Given the description of an element on the screen output the (x, y) to click on. 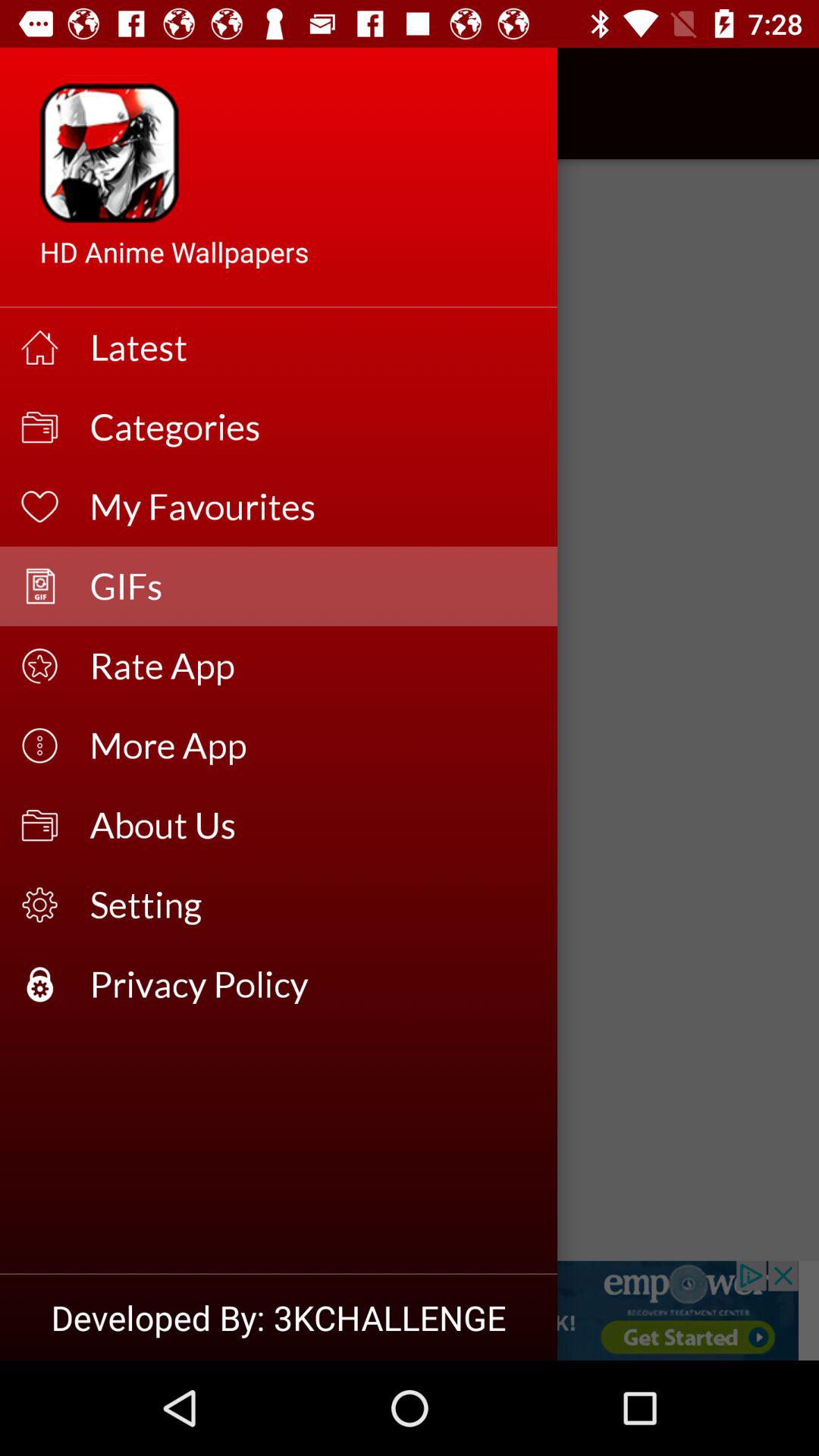
swipe until the gifs item (313, 586)
